Given the description of an element on the screen output the (x, y) to click on. 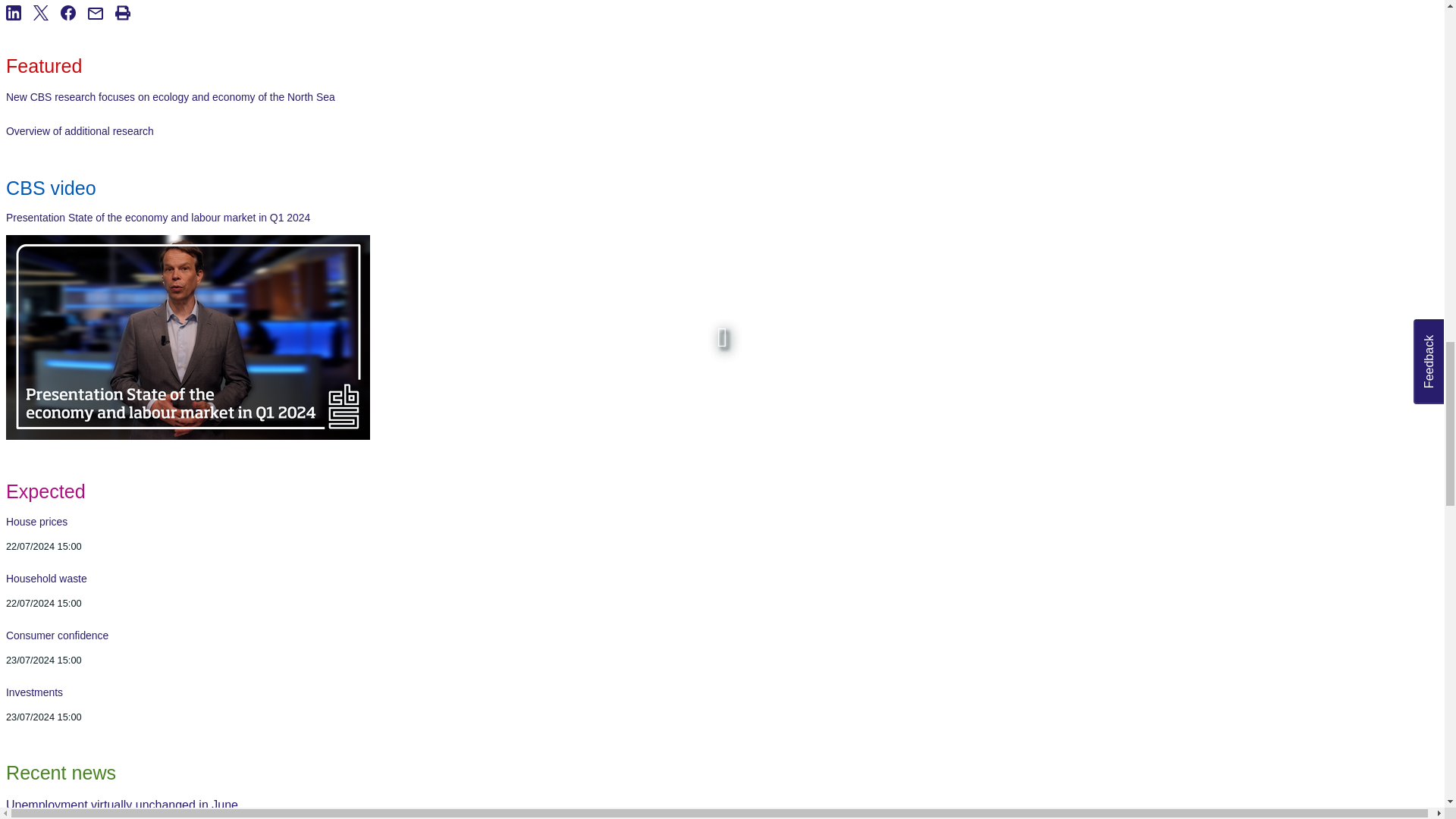
Mail this page (101, 30)
Share this page on LinkedIn (19, 30)
Share this page on Facebook (74, 30)
Share this page on X (47, 30)
